Given the description of an element on the screen output the (x, y) to click on. 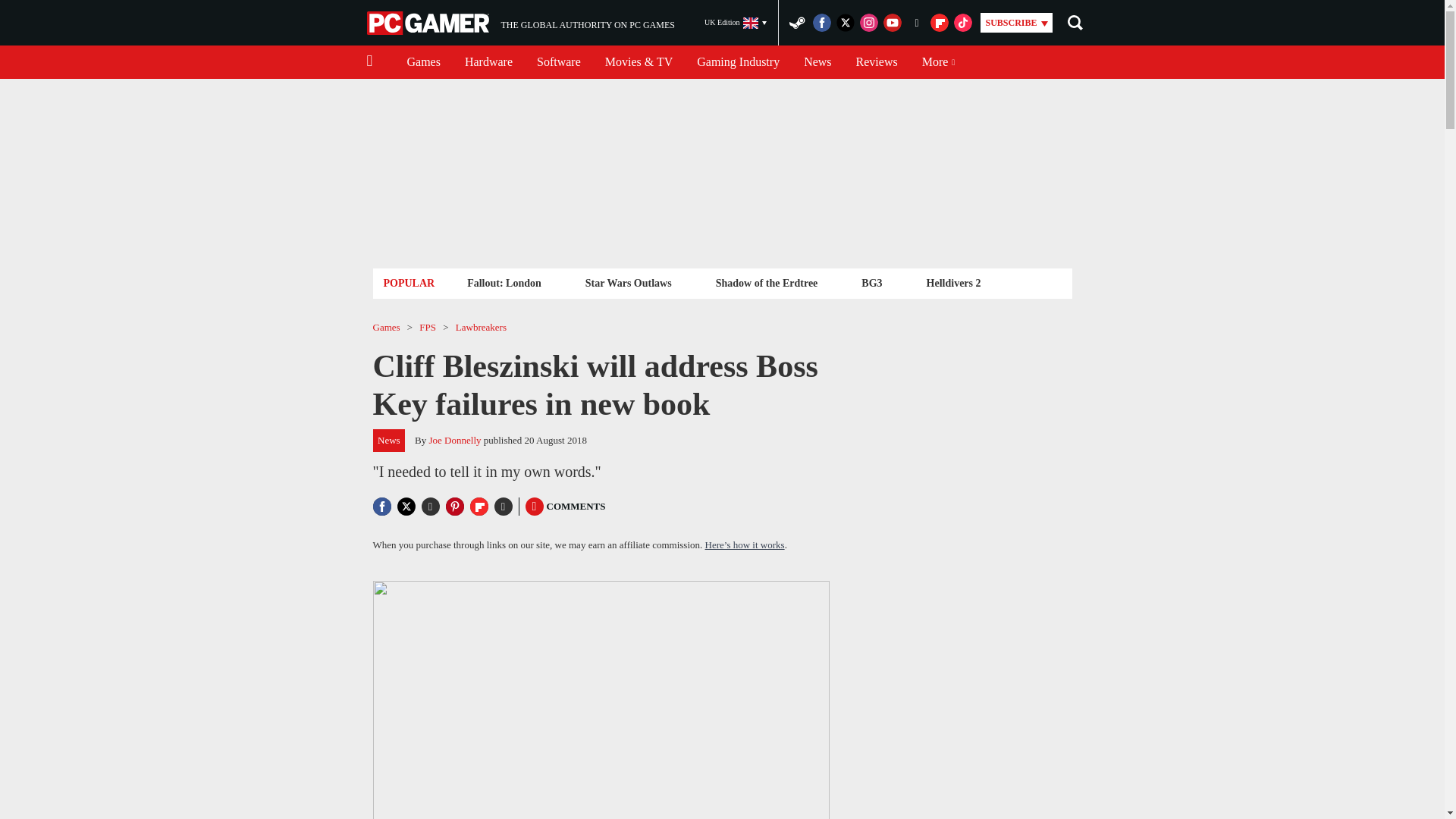
Software (558, 61)
Star Wars Outlaws (628, 282)
Gaming Industry (738, 61)
PC Gamer (429, 22)
Hardware (488, 61)
News (520, 22)
Reviews (817, 61)
Fallout: London (877, 61)
Games (504, 282)
